Given the description of an element on the screen output the (x, y) to click on. 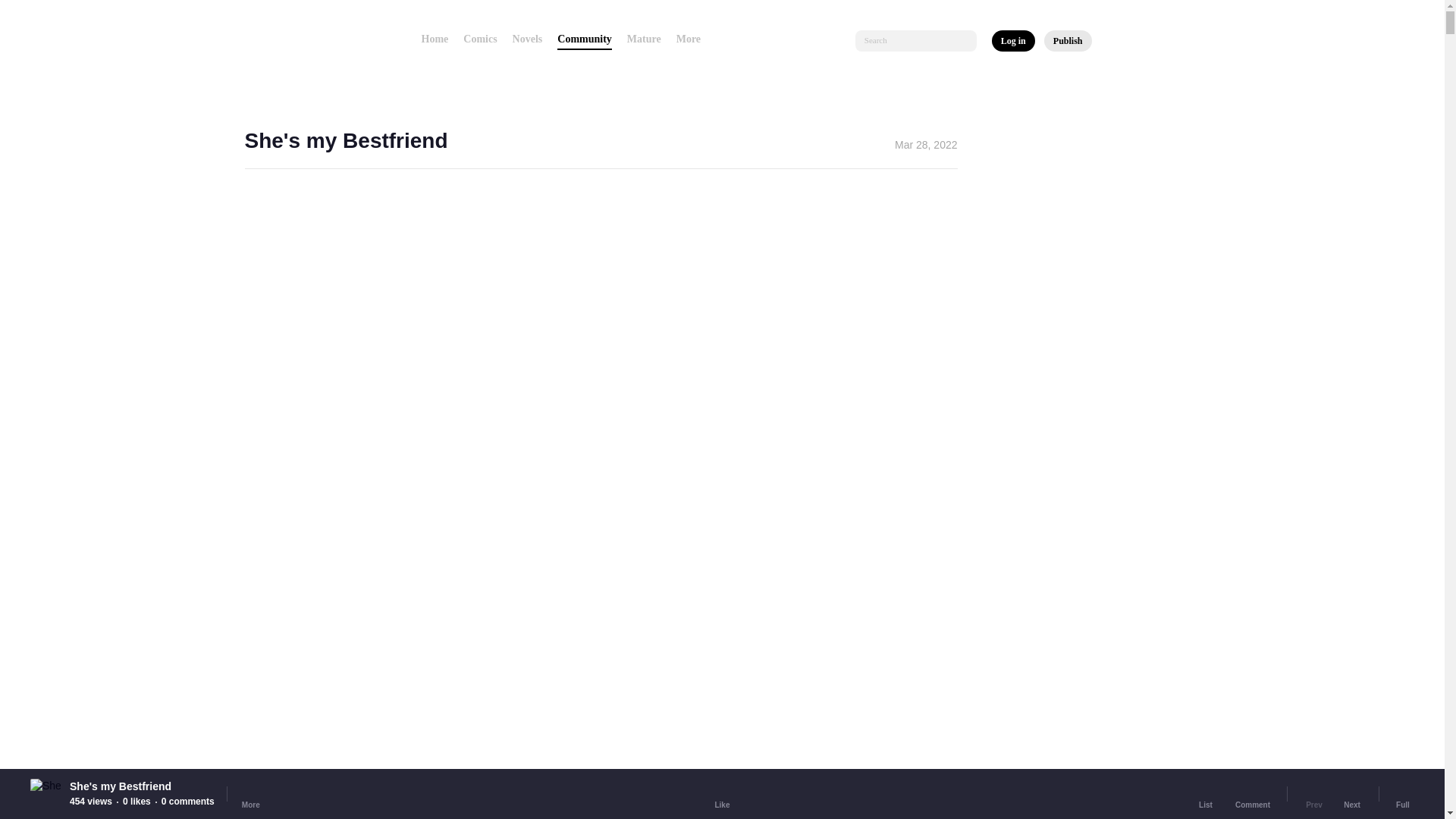
Novels (527, 38)
More (693, 38)
Mature (644, 38)
Log in (1013, 40)
Home (435, 38)
Comics (479, 38)
Community (584, 38)
Publish (1067, 40)
